Given the description of an element on the screen output the (x, y) to click on. 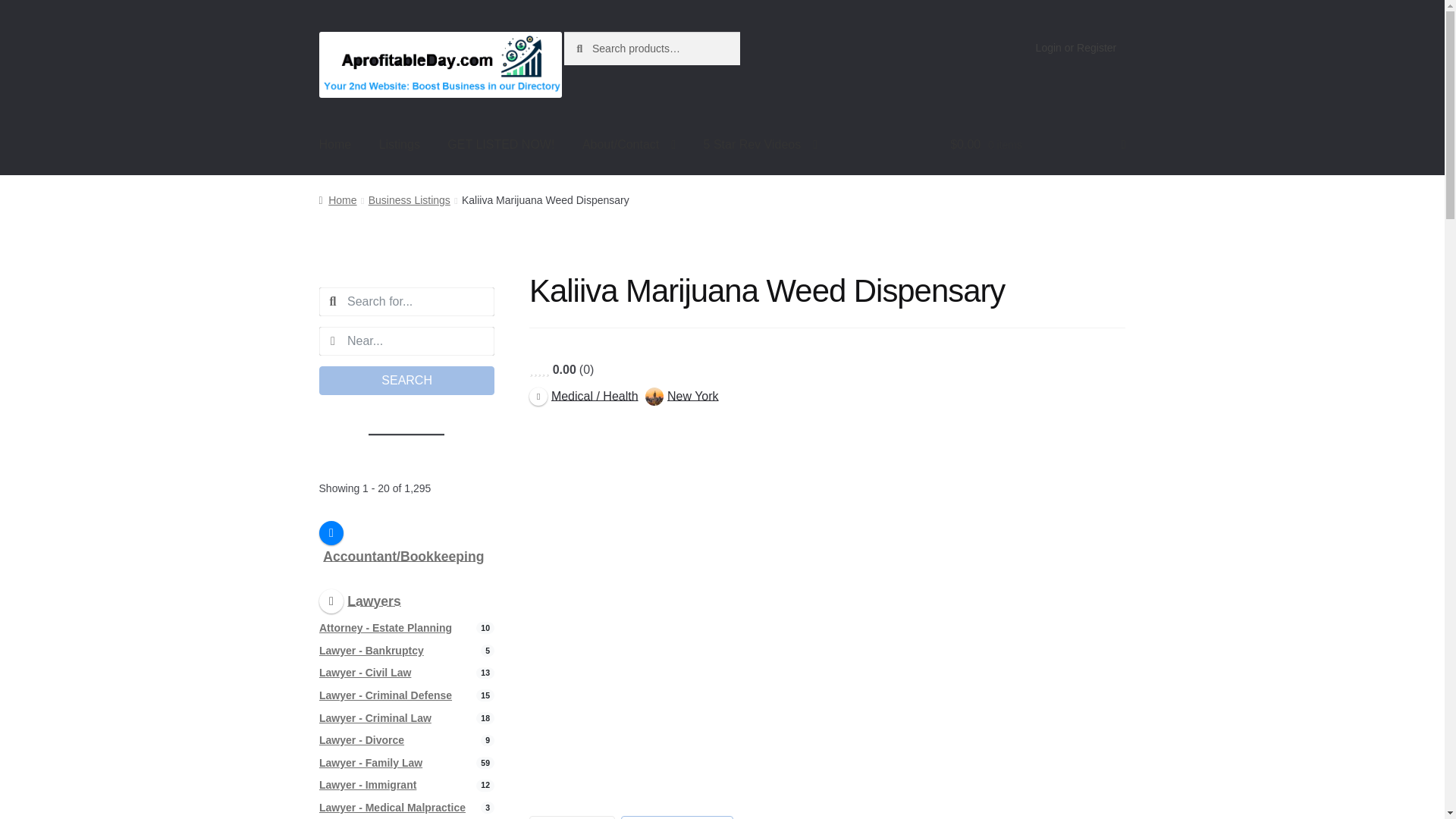
Home (335, 144)
Lawyers (359, 599)
Lawyer - Criminal Law (374, 717)
5 Star Rev Videos (760, 144)
Login or Register (1075, 47)
Lawyer - Criminal Defense (384, 694)
Listings (399, 144)
View your shopping cart (1037, 144)
GET LISTED NOW! (500, 144)
